Given the description of an element on the screen output the (x, y) to click on. 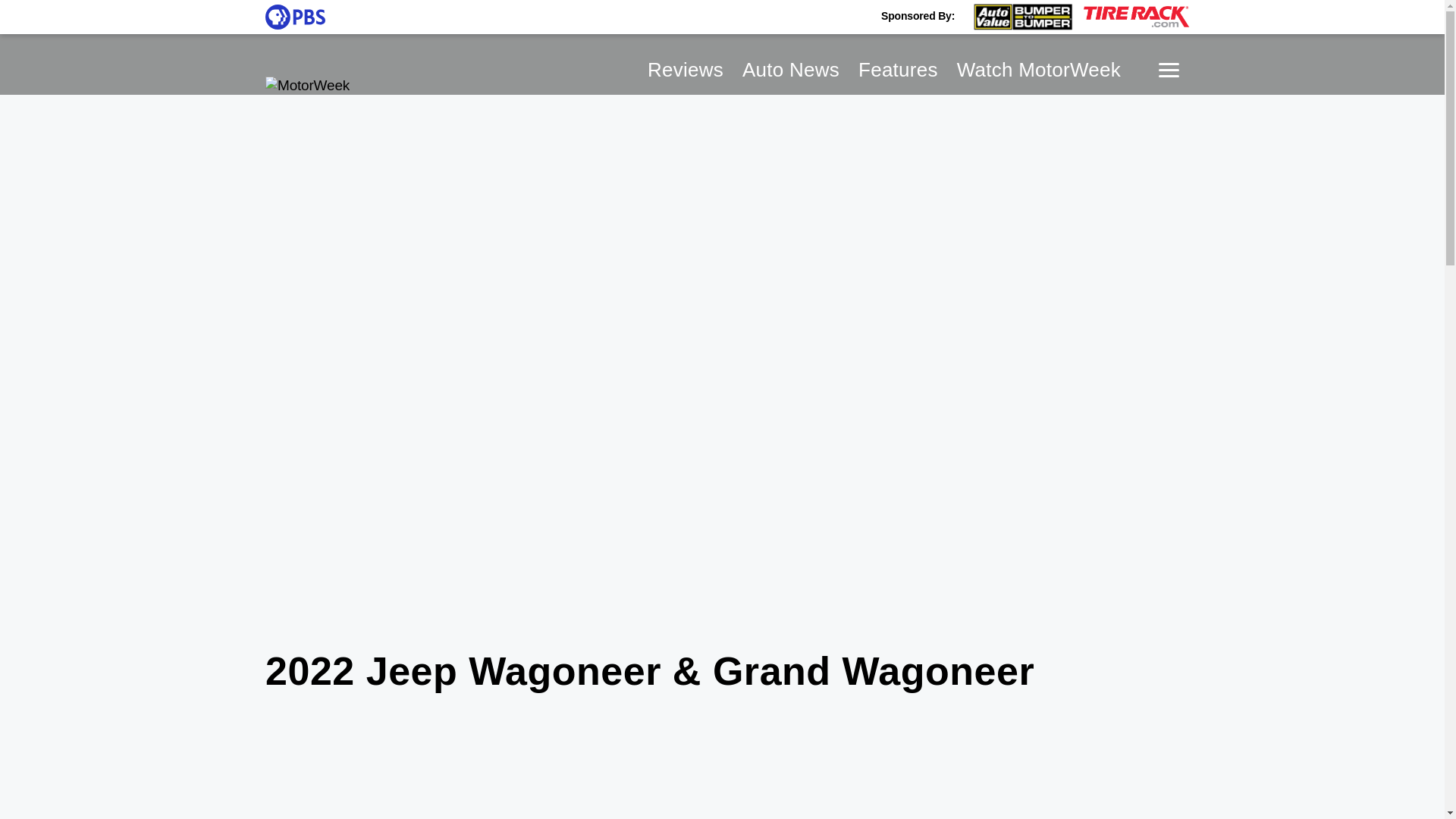
Watch MotorWeek (1038, 69)
YouTube video player (721, 765)
Features (898, 69)
PBS (294, 16)
MotorWeek (306, 85)
Menu (1168, 69)
Auto News (791, 69)
Reviews (685, 69)
